Given the description of an element on the screen output the (x, y) to click on. 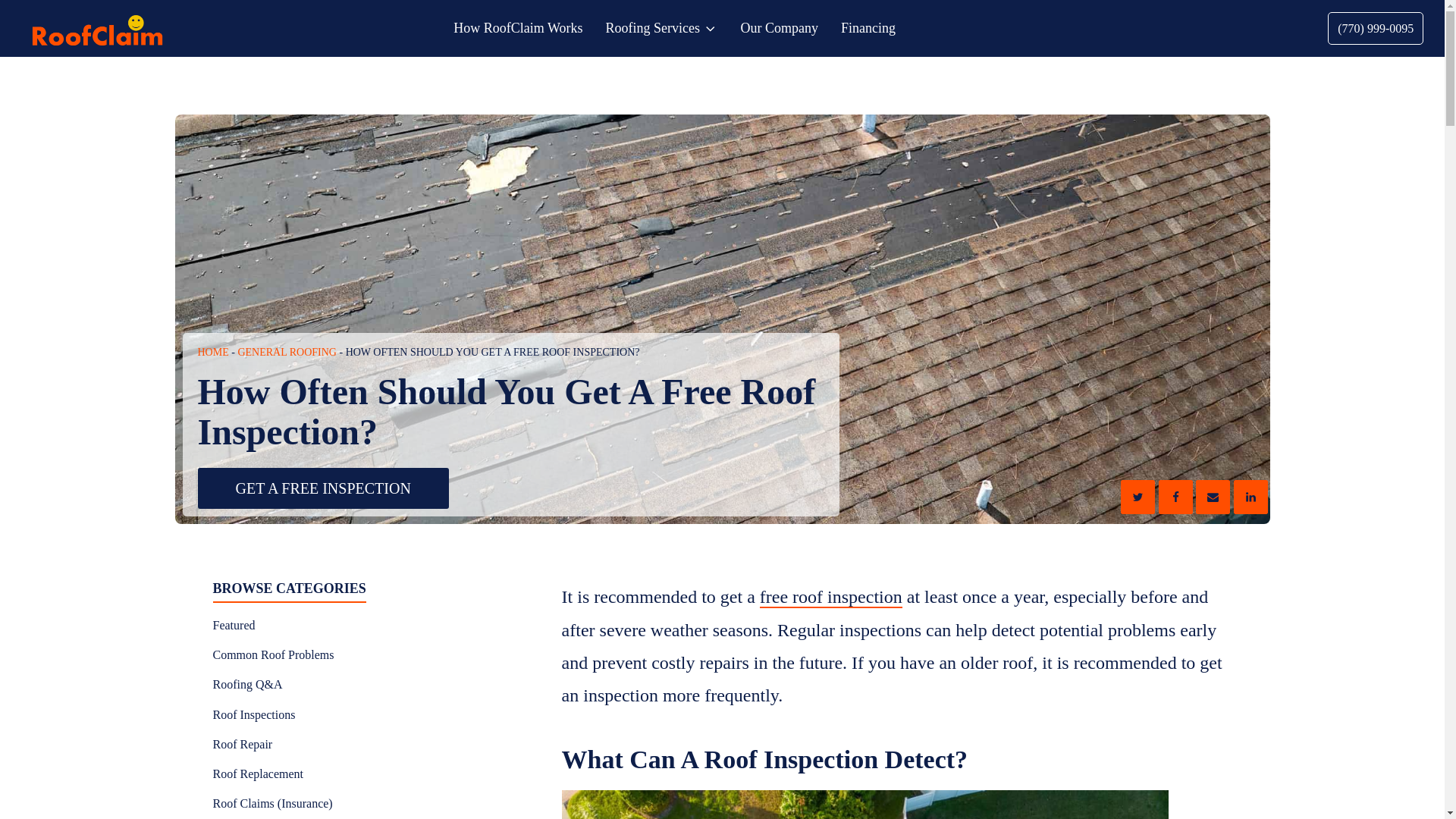
Featured (272, 624)
How RoofClaim Works (517, 28)
Roofing Services (661, 28)
GET A FREE INSPECTION (322, 487)
HOME (212, 351)
GENERAL ROOFING (286, 351)
Our Company (779, 28)
Financing (868, 28)
